Given the description of an element on the screen output the (x, y) to click on. 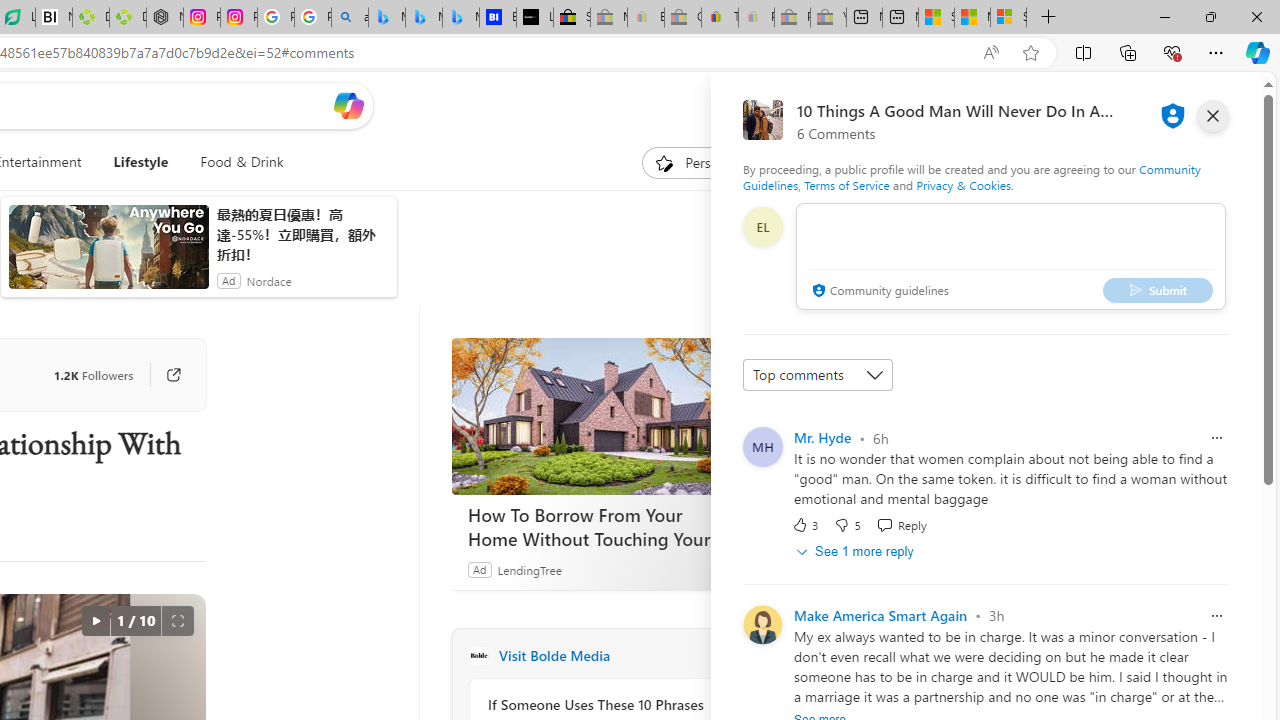
Descarga Driver Updater (127, 17)
Sign in to your Microsoft account (1008, 17)
Profile Picture (762, 624)
Lifestyle (140, 162)
How To Borrow From Your Home Without Touching Your Mortgage (601, 416)
Food & Drink (234, 162)
Bolde Media (478, 655)
Food & Drink (241, 162)
Make America Smart Again (880, 614)
To get missing image descriptions, open the context menu. (664, 162)
comment-box (1011, 256)
